Given the description of an element on the screen output the (x, y) to click on. 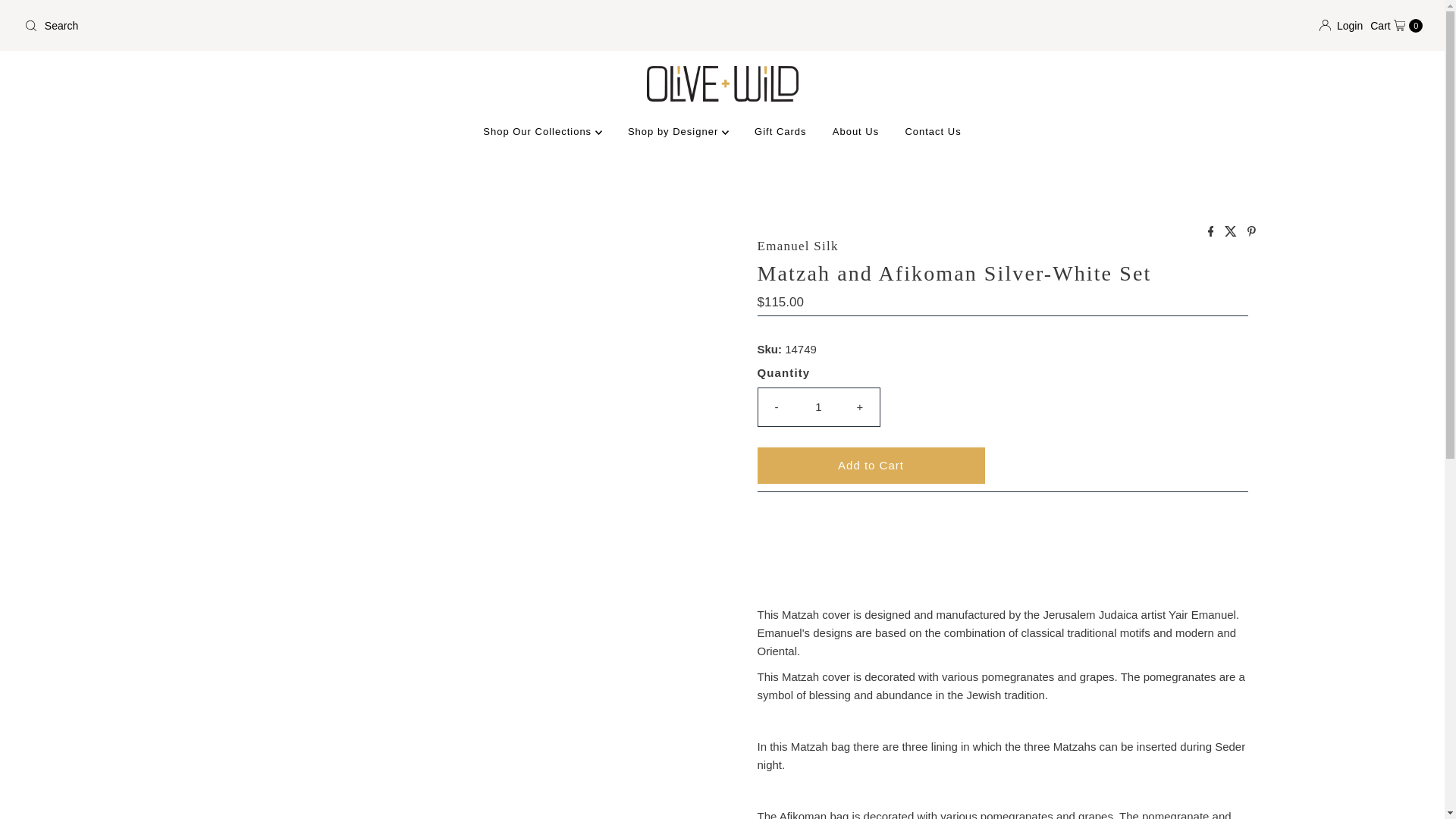
Share on Twitter (1232, 232)
Add to Cart (870, 465)
Skip to content (53, 18)
1 (818, 406)
Search our store (366, 25)
